Given the description of an element on the screen output the (x, y) to click on. 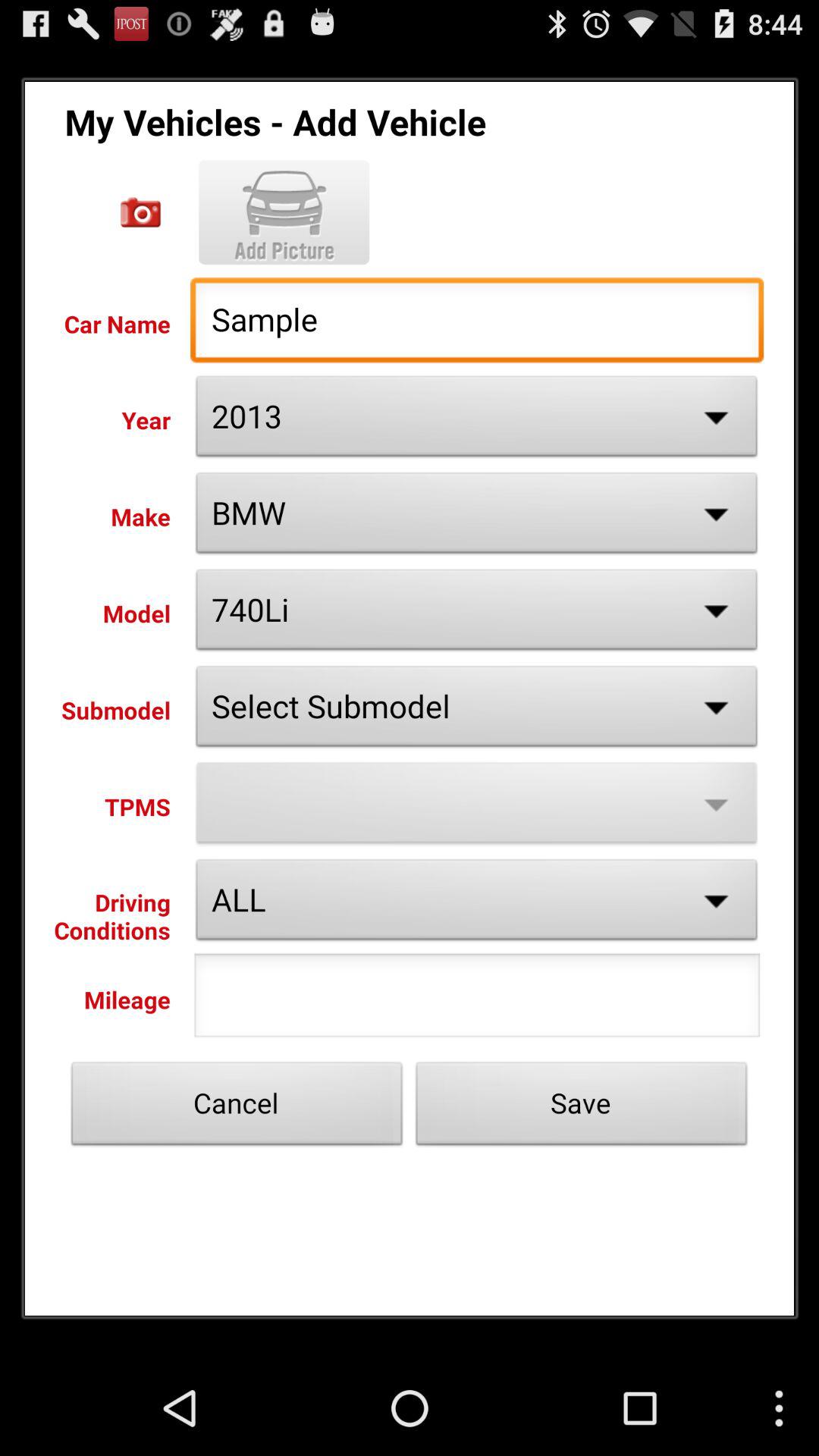
add picture (283, 212)
